Given the description of an element on the screen output the (x, y) to click on. 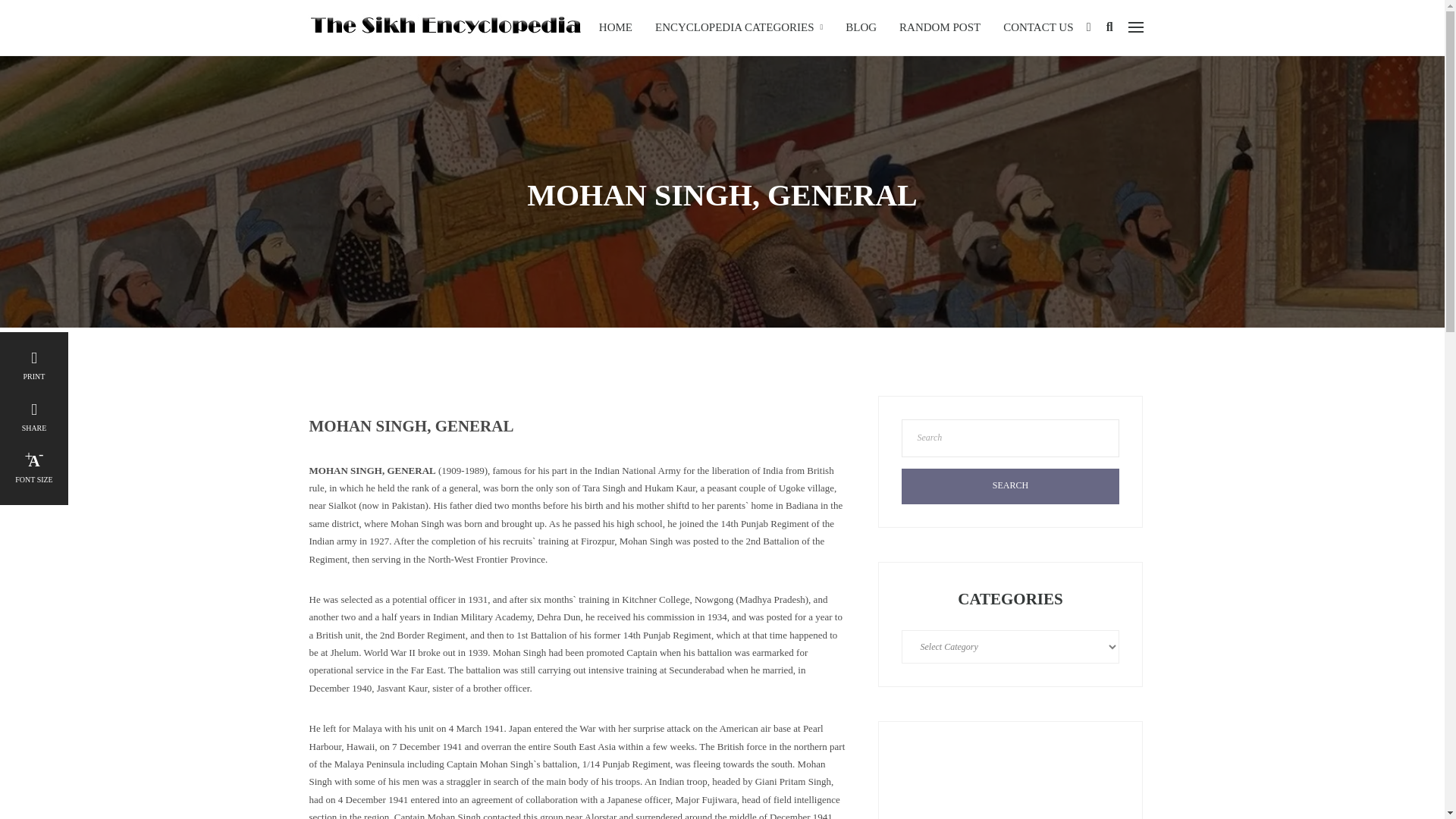
BLOG (861, 27)
RANDOM POST (939, 27)
The Sikh Encyclopedia (443, 25)
ENCYCLOPEDIA CATEGORIES (738, 27)
Advertisement (1010, 781)
CONTACT US (1037, 27)
HOME (615, 27)
